Given the description of an element on the screen output the (x, y) to click on. 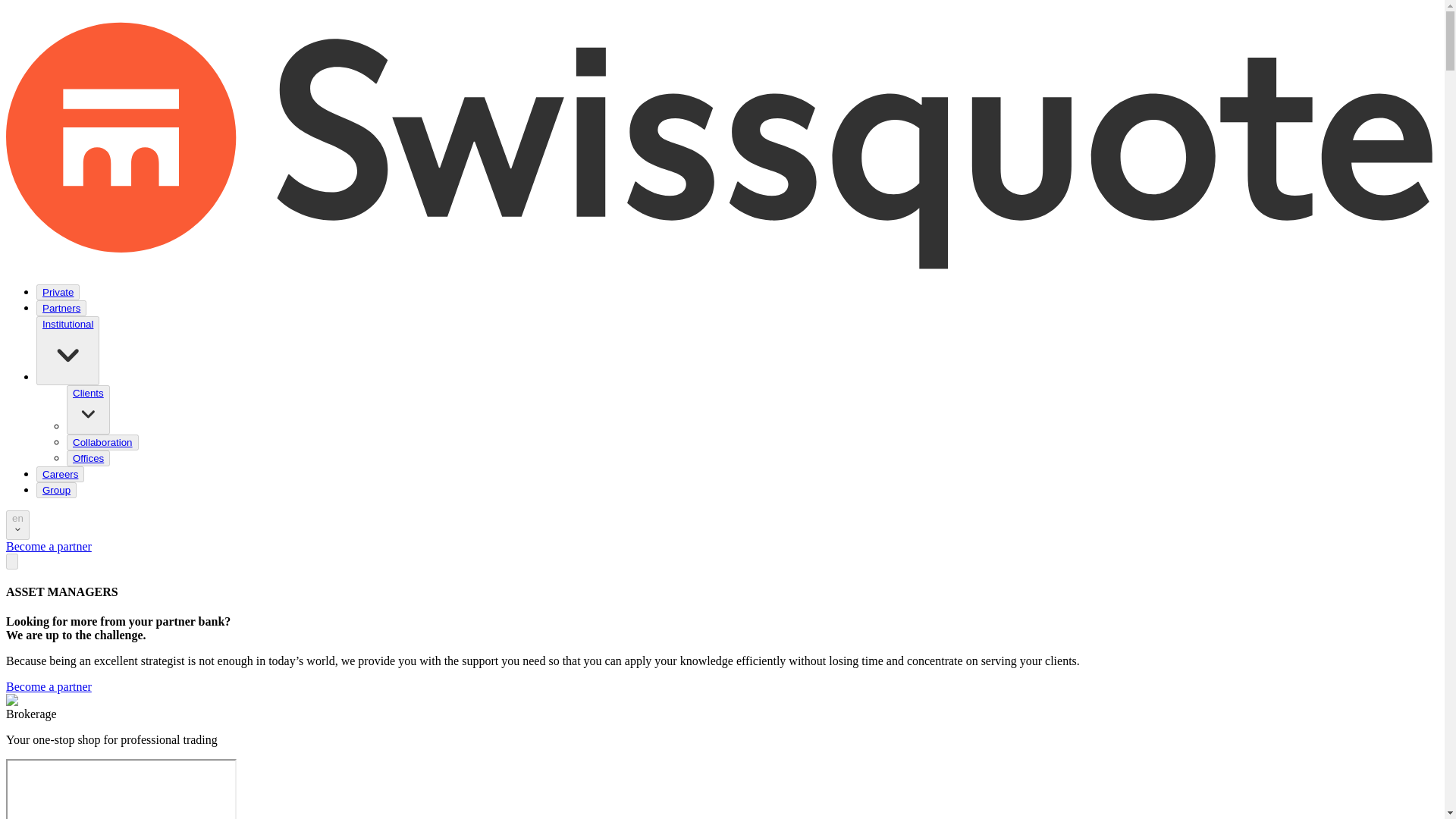
Become a partner (48, 686)
Group (56, 489)
Private (58, 292)
Offices (88, 458)
Institutional (67, 350)
Collaboration (102, 441)
Partners (60, 308)
Private (58, 292)
Careers (60, 473)
Partners (61, 307)
Become a partner (48, 545)
Collaboration (102, 442)
Institutional (67, 324)
Offices (87, 458)
Group (55, 490)
